Given the description of an element on the screen output the (x, y) to click on. 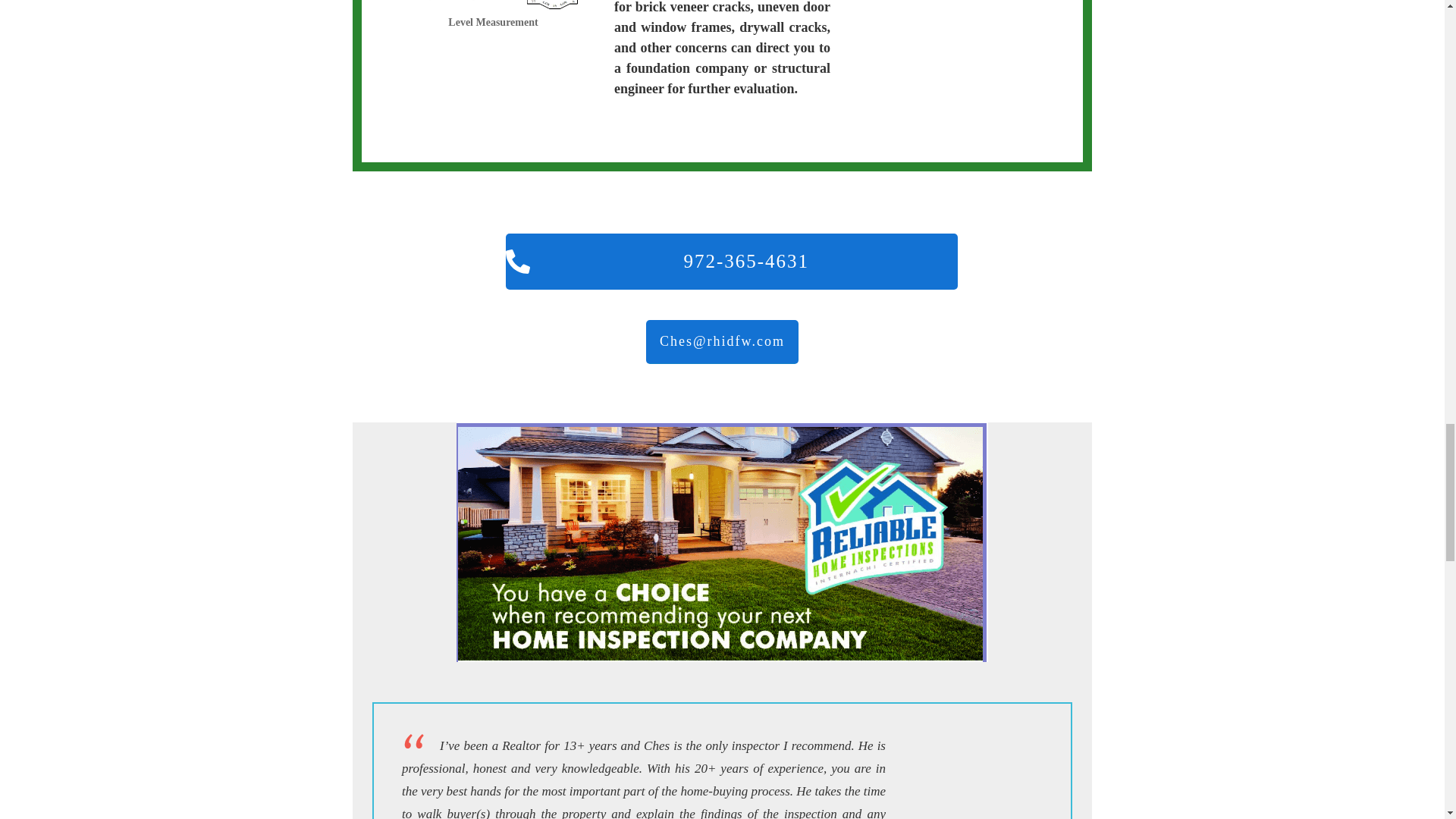
Level Report (493, 5)
972-365-4631  (731, 261)
You Have a Choice Photo (722, 541)
